Given the description of an element on the screen output the (x, y) to click on. 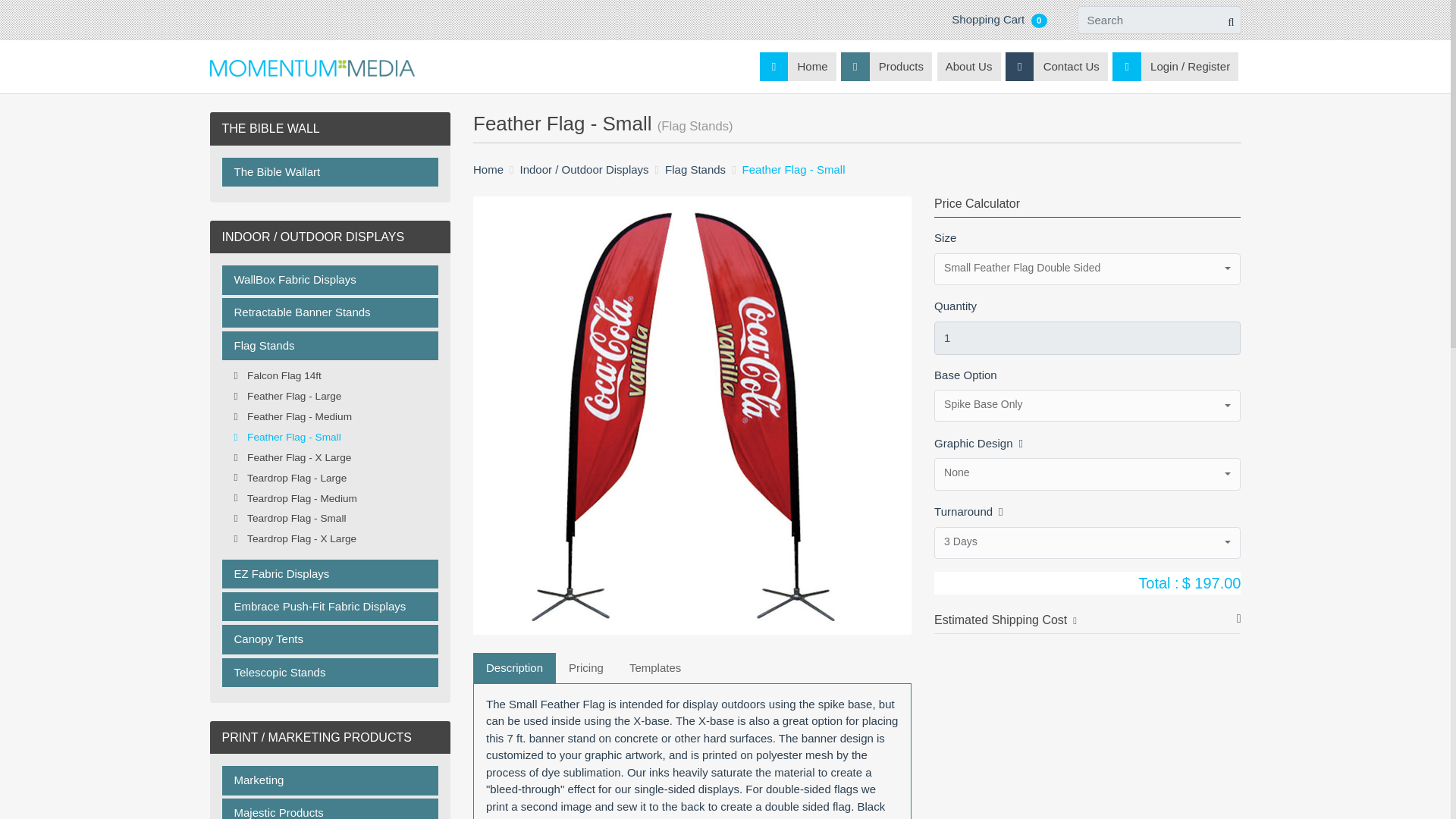
Shopping Cart  0 (998, 19)
None (1087, 473)
Spike Base Only (1087, 405)
Home (797, 66)
Small Feather Flag Double Sided (1087, 269)
Products (886, 66)
1 (1087, 337)
3 Days (1087, 542)
